Given the description of an element on the screen output the (x, y) to click on. 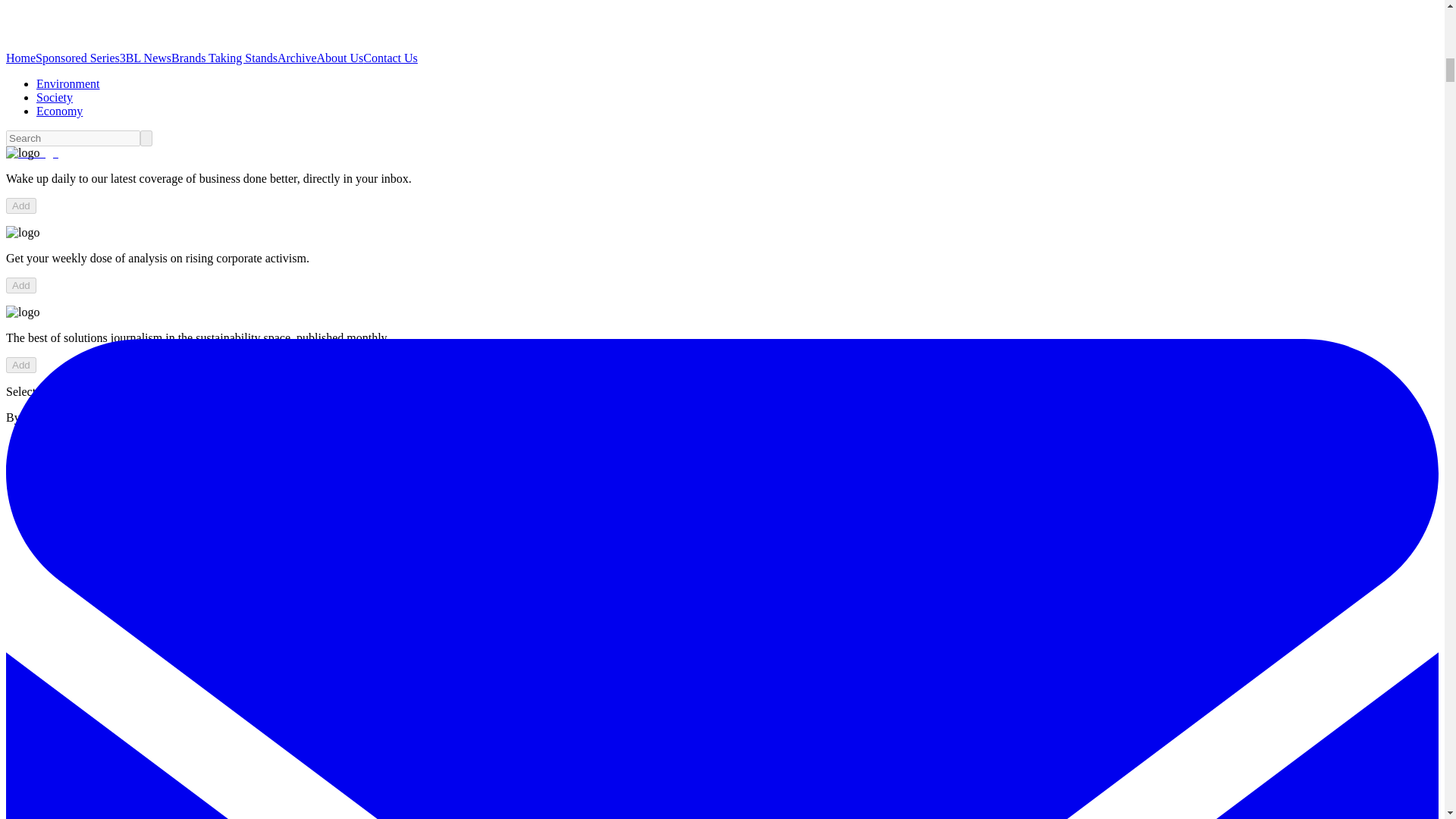
Archive (297, 57)
Home (19, 57)
privacy policy (193, 417)
Add (20, 365)
Add (20, 205)
Contact Us (389, 57)
3BL News (145, 57)
Sponsored Series (76, 57)
About Us (340, 57)
Economy (59, 110)
Environment (68, 83)
Add (20, 285)
Society (54, 97)
Brands Taking Stands (224, 57)
